Given the description of an element on the screen output the (x, y) to click on. 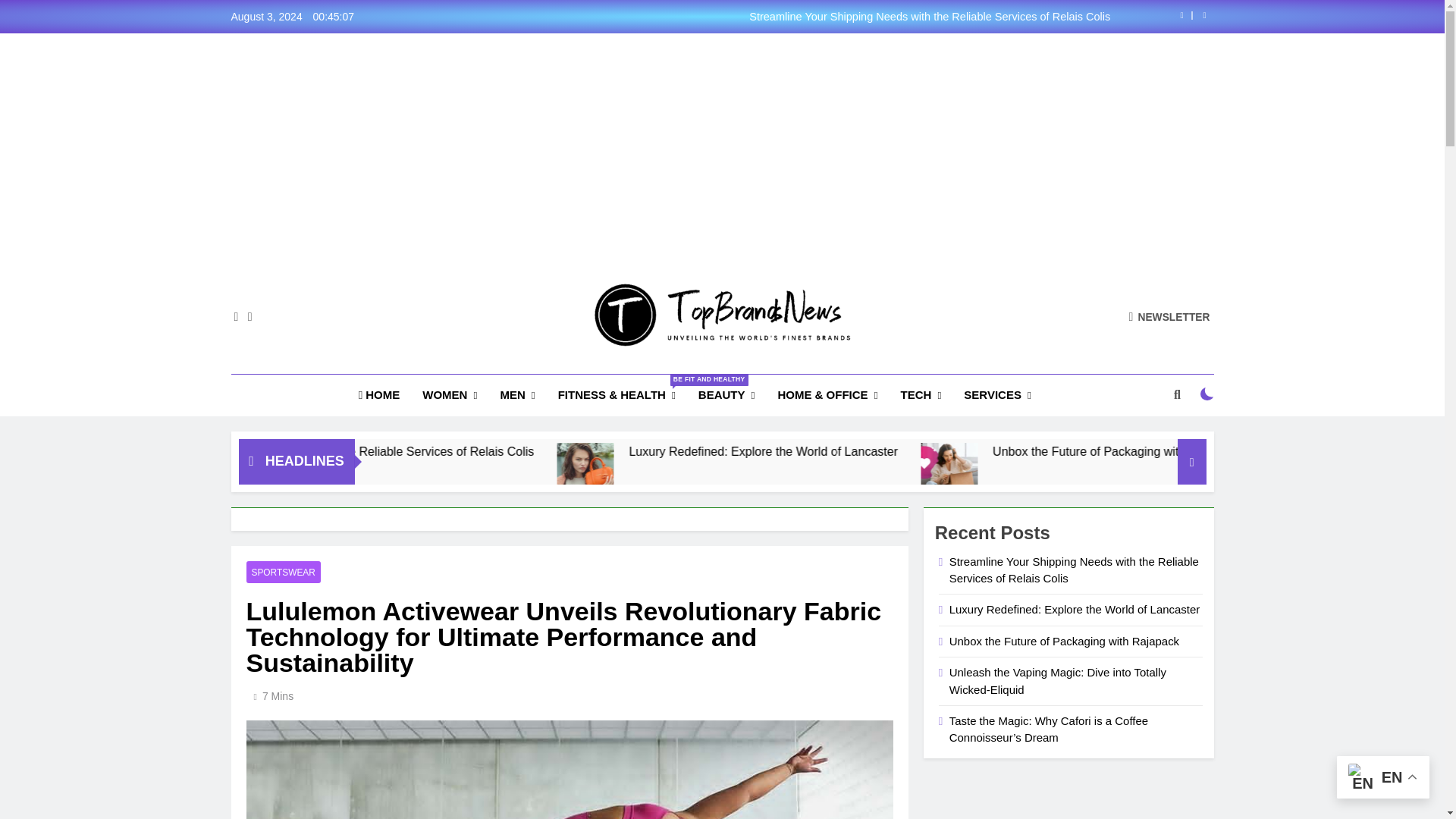
BEAUTY (727, 395)
MEN (516, 395)
WOMEN (448, 395)
Luxury Redefined: Explore the World of Lancaster (744, 471)
on (1206, 394)
HOME (379, 394)
Top Brands News (608, 368)
